Given the description of an element on the screen output the (x, y) to click on. 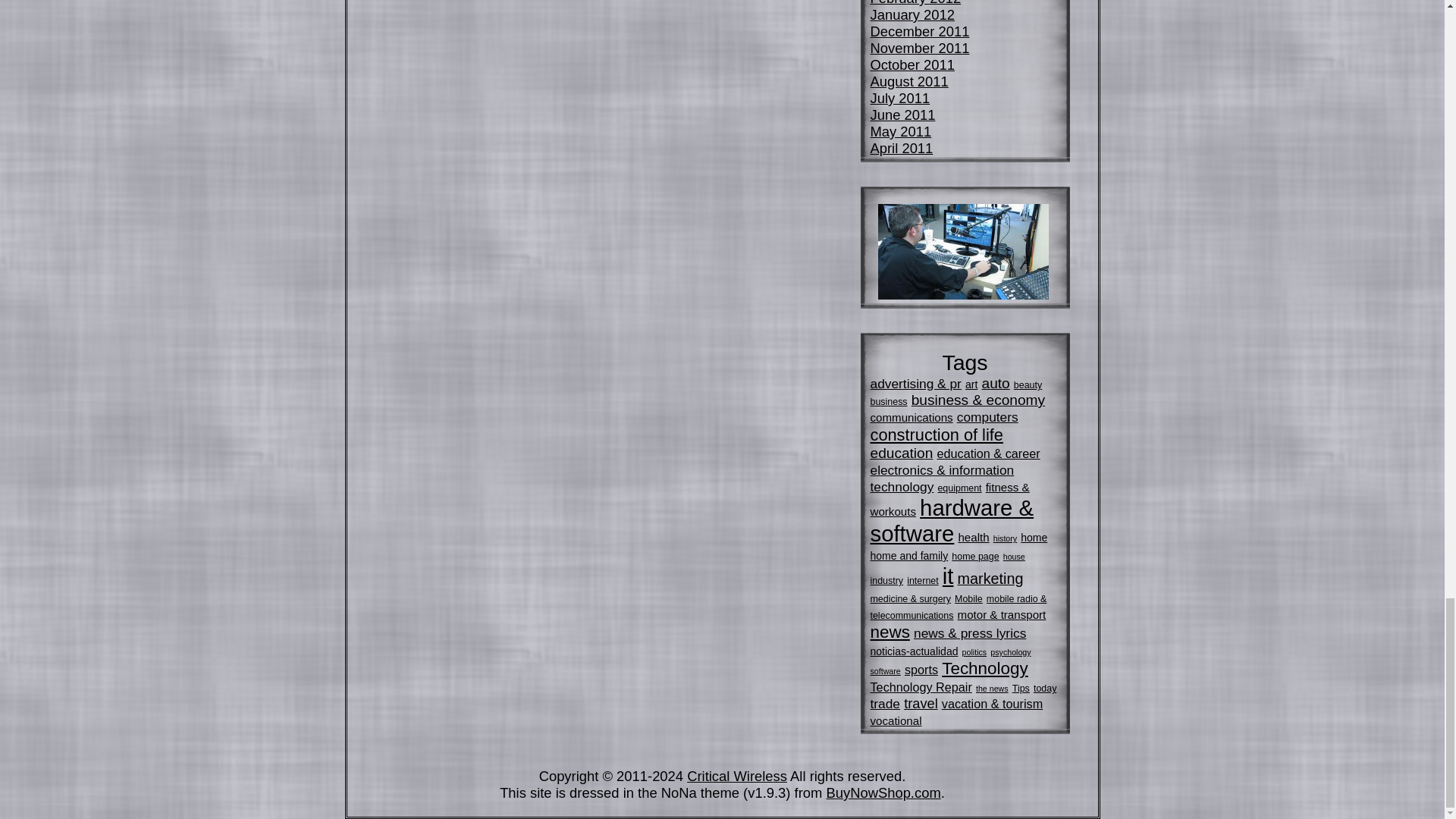
BuyNowShop.com (882, 792)
Critical Wireless (737, 775)
